Given the description of an element on the screen output the (x, y) to click on. 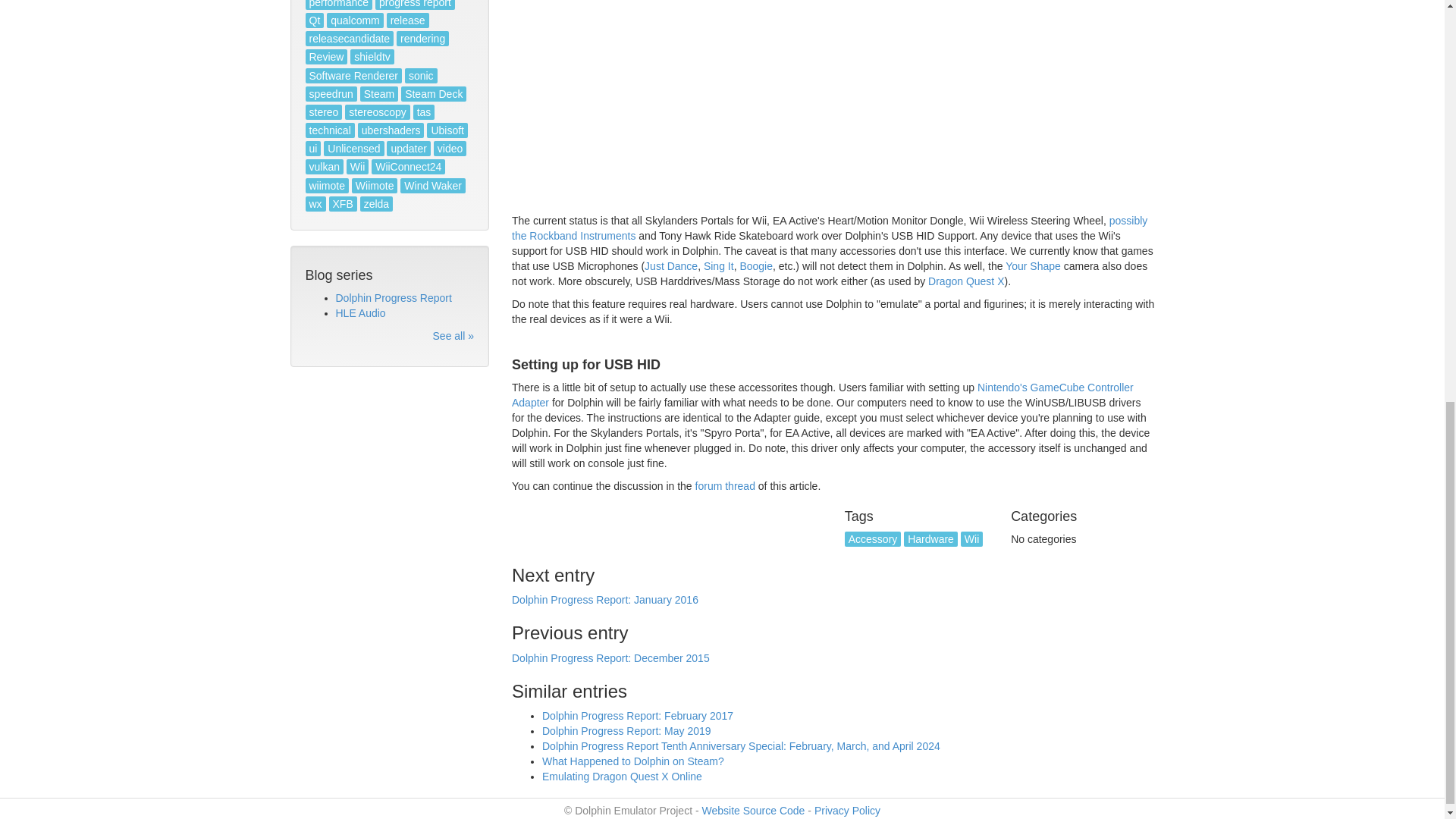
Dolphin Progress Report: February 2017 (637, 715)
Dolphin Progress Report: January 2016 (605, 599)
Visit forum thread for this article (725, 485)
Show all entries tagged by Wii (971, 539)
Show all entries tagged by Hardware (931, 539)
Show all entries tagged by Accessory (872, 539)
Dolphin Progress Report: December 2015 (611, 657)
